Given the description of an element on the screen output the (x, y) to click on. 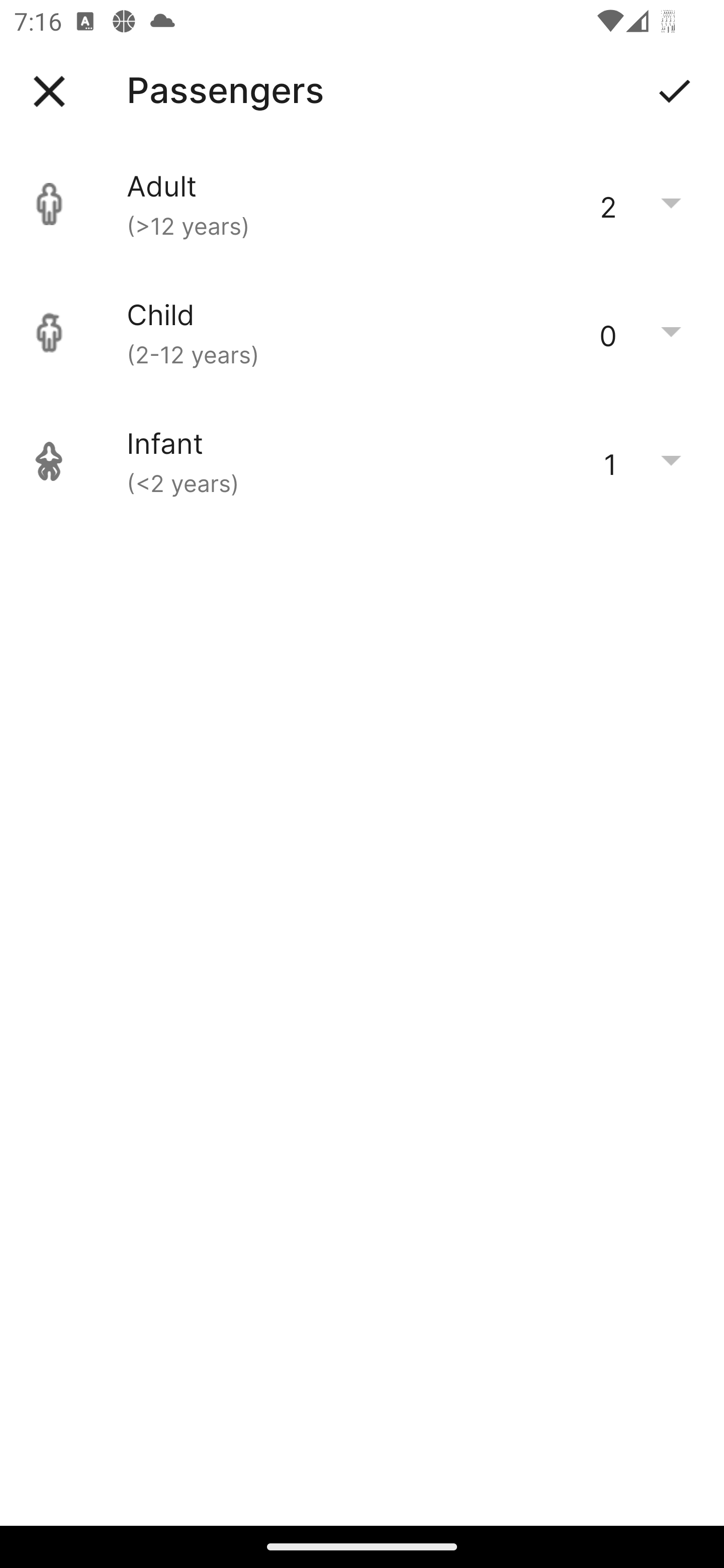
Adult (>12 years) 2 (362, 204)
Child (2-12 years) 0 (362, 332)
Infant (<2 years) 1 (362, 461)
